Given the description of an element on the screen output the (x, y) to click on. 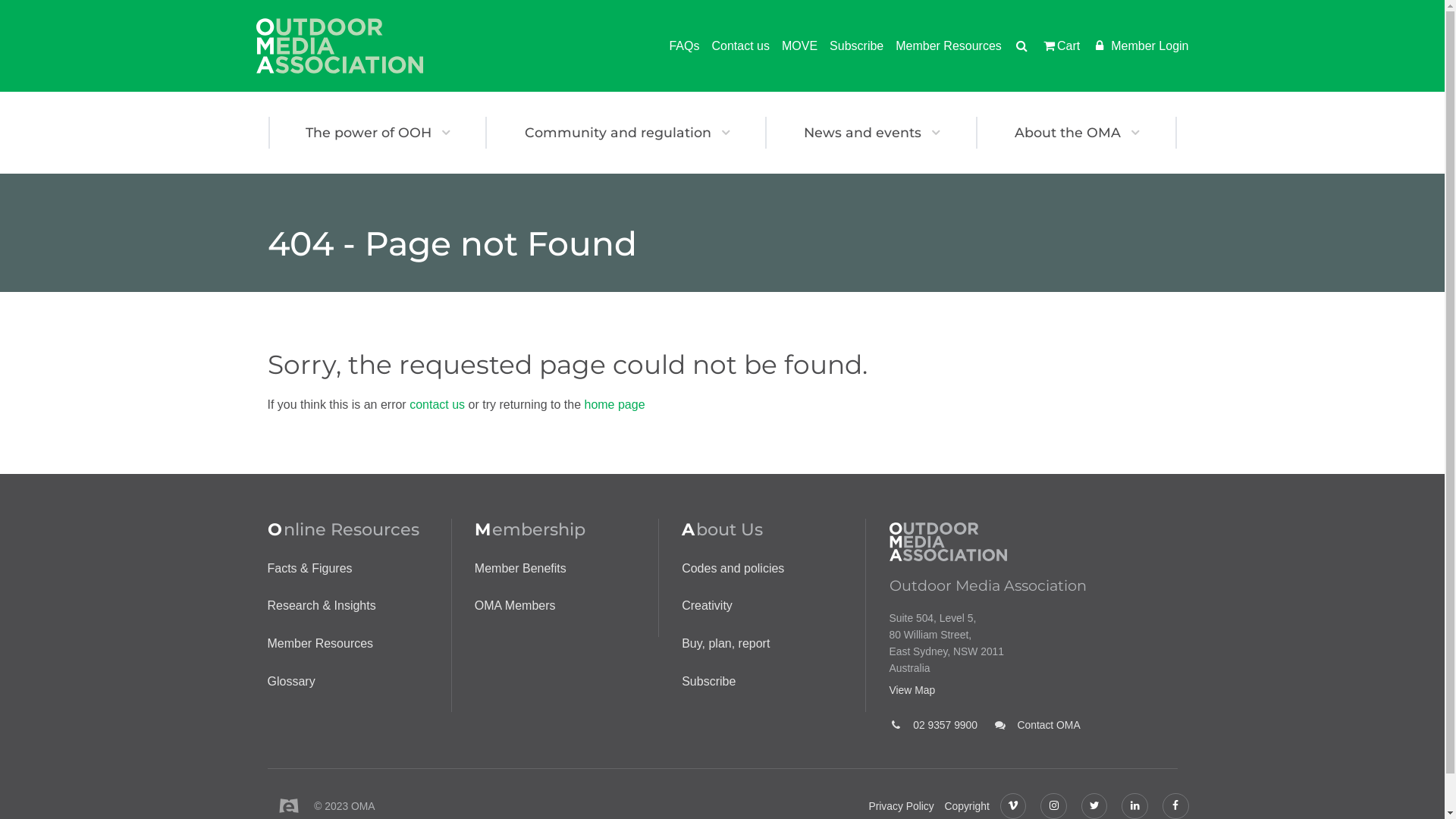
Codes and policies Element type: text (732, 567)
View Map Element type: text (1032, 689)
Member Benefits Element type: text (520, 567)
Glossary Element type: text (290, 680)
MOVE Element type: text (793, 45)
Creativity Element type: text (706, 605)
Contact OMA Element type: text (1036, 724)
Buy, plan, report Element type: text (725, 643)
The power of OOH Element type: text (377, 132)
OMA Members Element type: text (514, 605)
FAQs Element type: text (677, 45)
Privacy Policy Element type: text (900, 806)
Facts & Figures Element type: text (308, 567)
Copyright Element type: text (966, 806)
News and events Element type: text (871, 132)
02 9357 9900 Element type: text (932, 724)
Contact us Element type: text (733, 45)
Research & Insights Element type: text (320, 605)
Subscribe Element type: text (850, 45)
Member Resources Element type: text (942, 45)
contact us Element type: text (436, 404)
About the OMA Element type: text (1076, 132)
Member Resources Element type: text (319, 643)
Member Login Element type: text (1133, 45)
Cart Element type: text (1054, 45)
Community and regulation Element type: text (626, 132)
home page Element type: text (613, 404)
Subscribe Element type: text (708, 680)
